Given the description of an element on the screen output the (x, y) to click on. 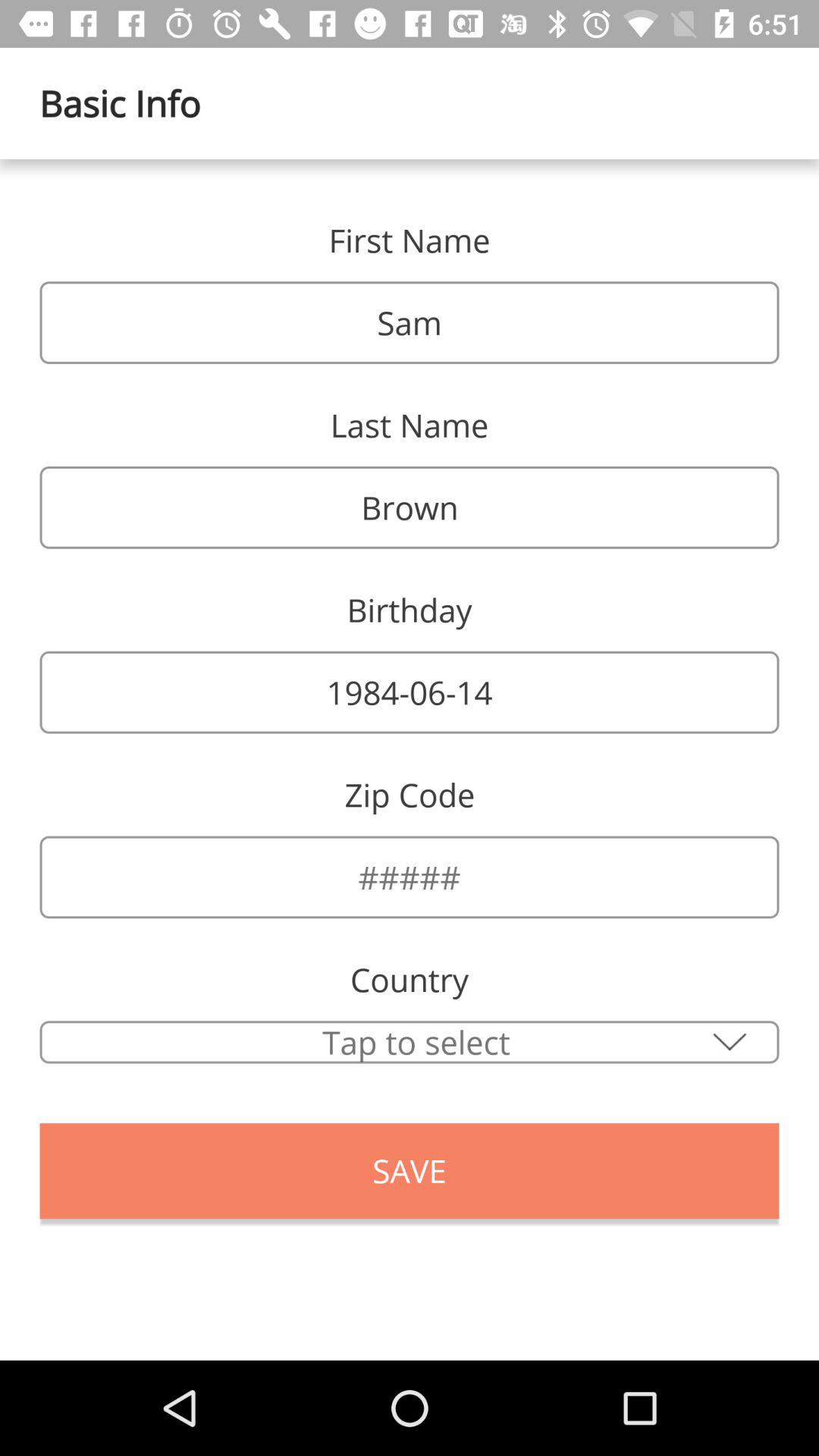
enter the zip code (409, 877)
